Given the description of an element on the screen output the (x, y) to click on. 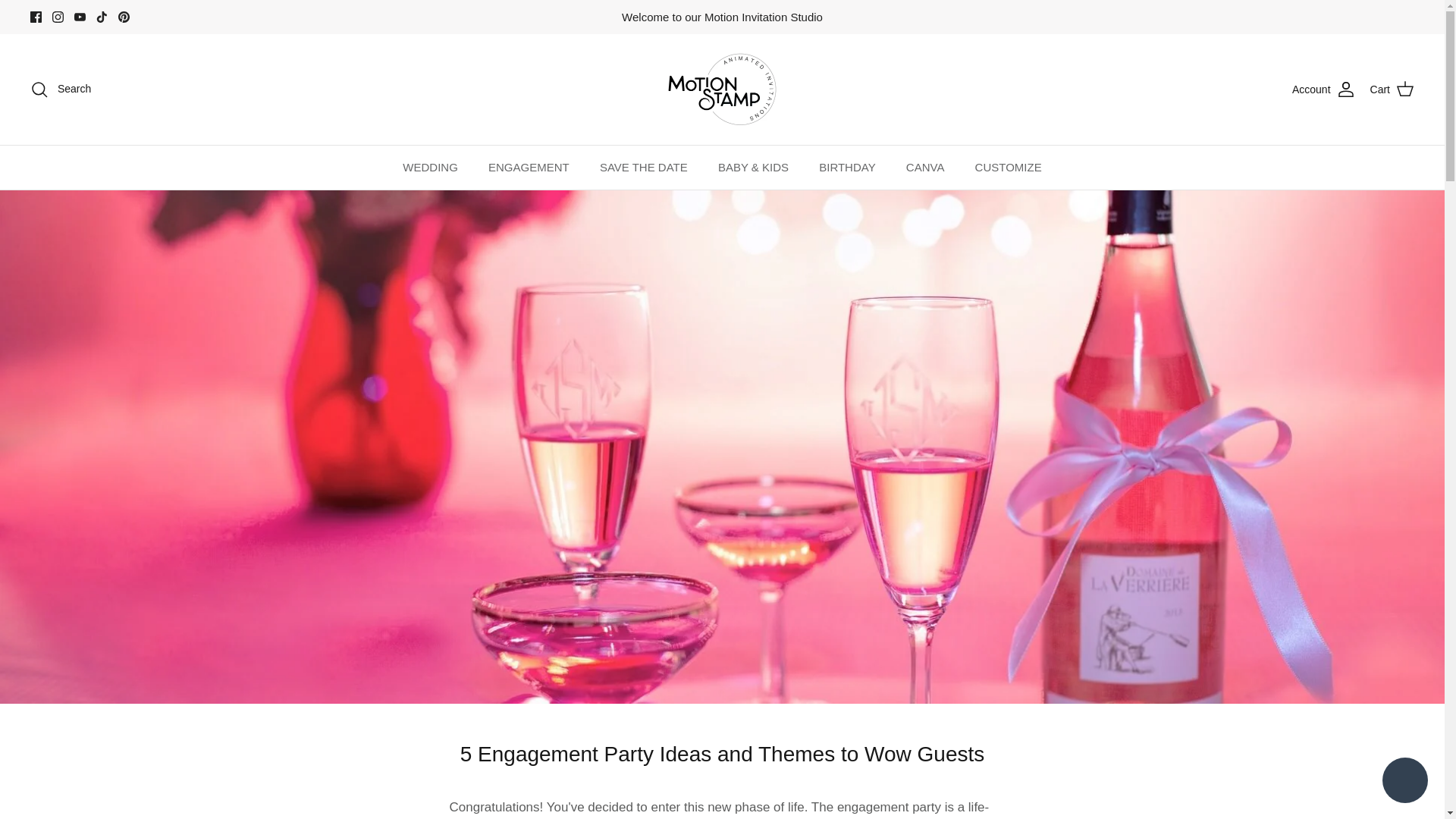
Account (1323, 89)
Youtube (79, 16)
Facebook (36, 16)
Instagram (58, 16)
Pinterest (123, 16)
Search (60, 89)
WEDDING (429, 167)
Cart (1391, 89)
Youtube (79, 16)
Facebook (36, 16)
Instagram (58, 16)
Motion Stamp (721, 89)
Pinterest (123, 16)
Shopify online store chat (1404, 781)
